Given the description of an element on the screen output the (x, y) to click on. 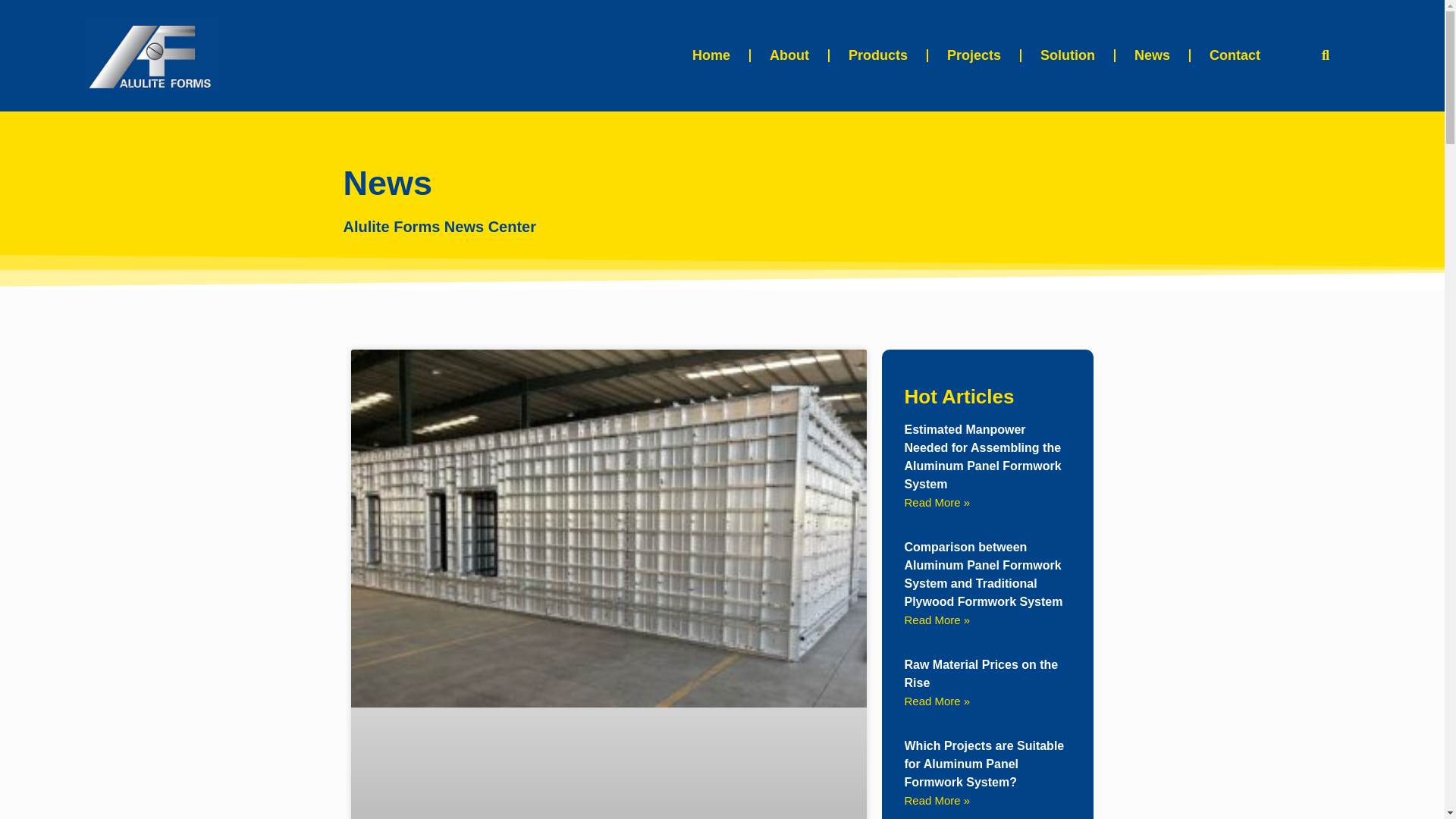
Raw Material Prices on the Rise (981, 673)
Products (877, 55)
News (1152, 55)
Solution (1067, 55)
About (789, 55)
Projects (974, 55)
Home (710, 55)
